Given the description of an element on the screen output the (x, y) to click on. 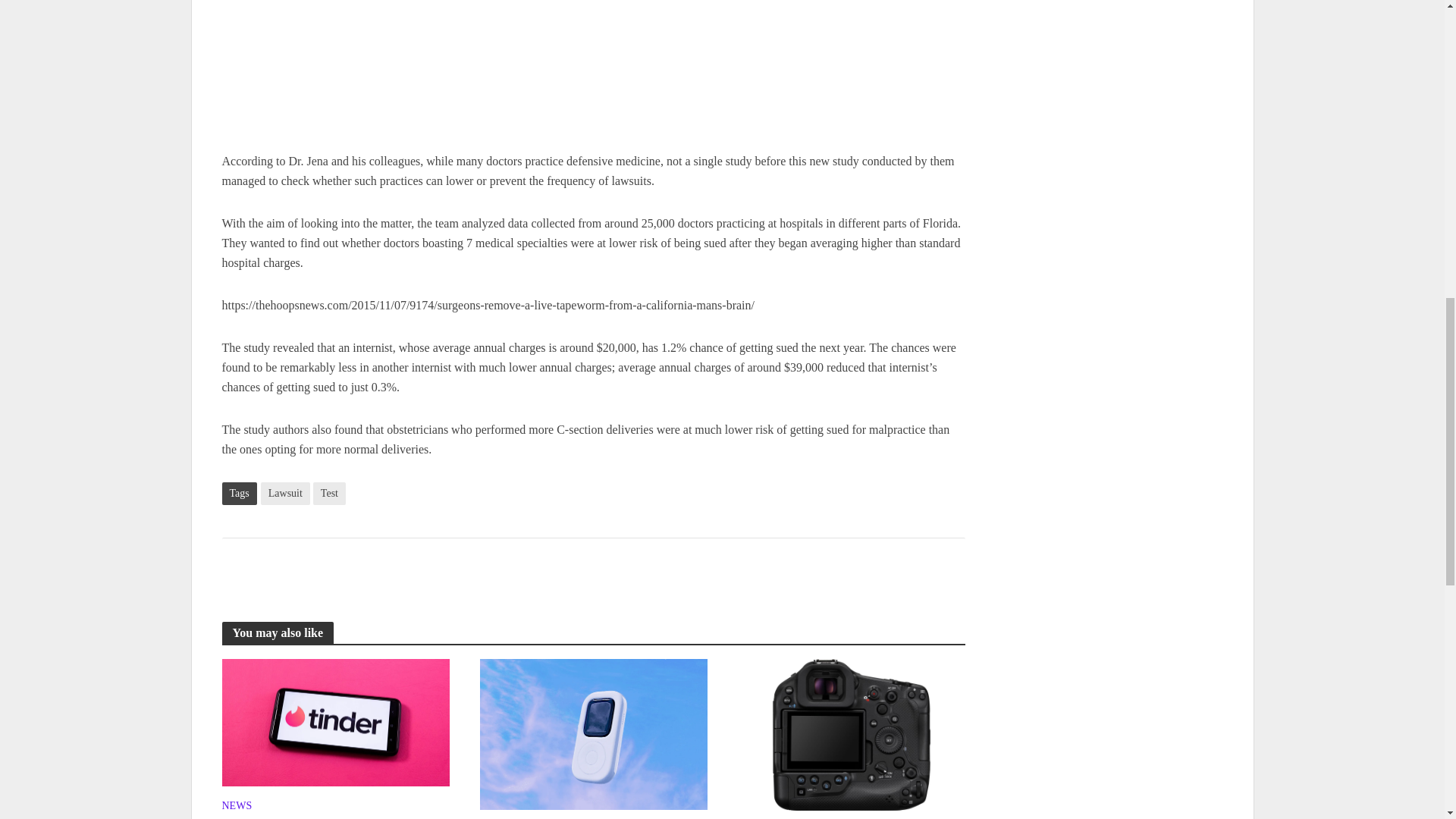
Advertisement (592, 75)
Lawsuit (285, 493)
NEWS (236, 807)
TinyPod: Turning Your Apple Watch into a Modern-Day iPod 2 (592, 734)
TinyPod: Turning Your Apple Watch into a Modern-Day iPod (592, 732)
Test (329, 493)
